Given the description of an element on the screen output the (x, y) to click on. 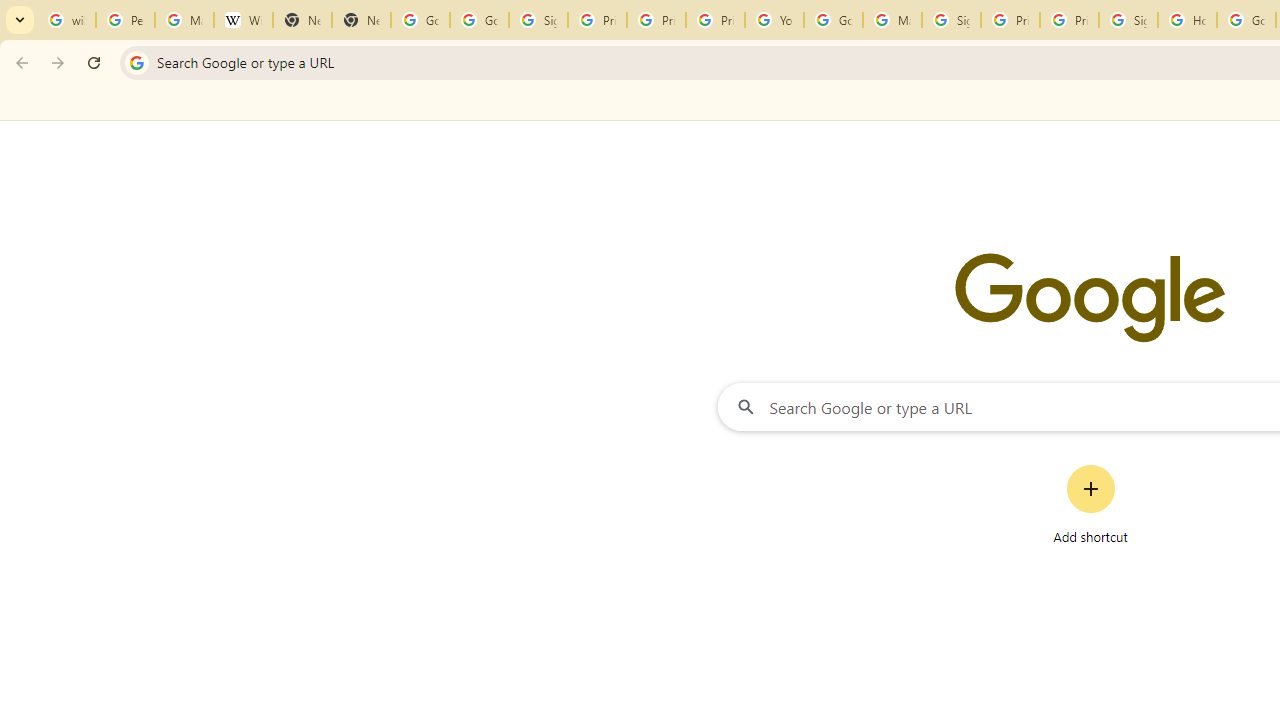
Google Drive: Sign-in (479, 20)
Add shortcut (1090, 504)
Manage your Location History - Google Search Help (183, 20)
Google Account Help (832, 20)
Search icon (136, 62)
